Given the description of an element on the screen output the (x, y) to click on. 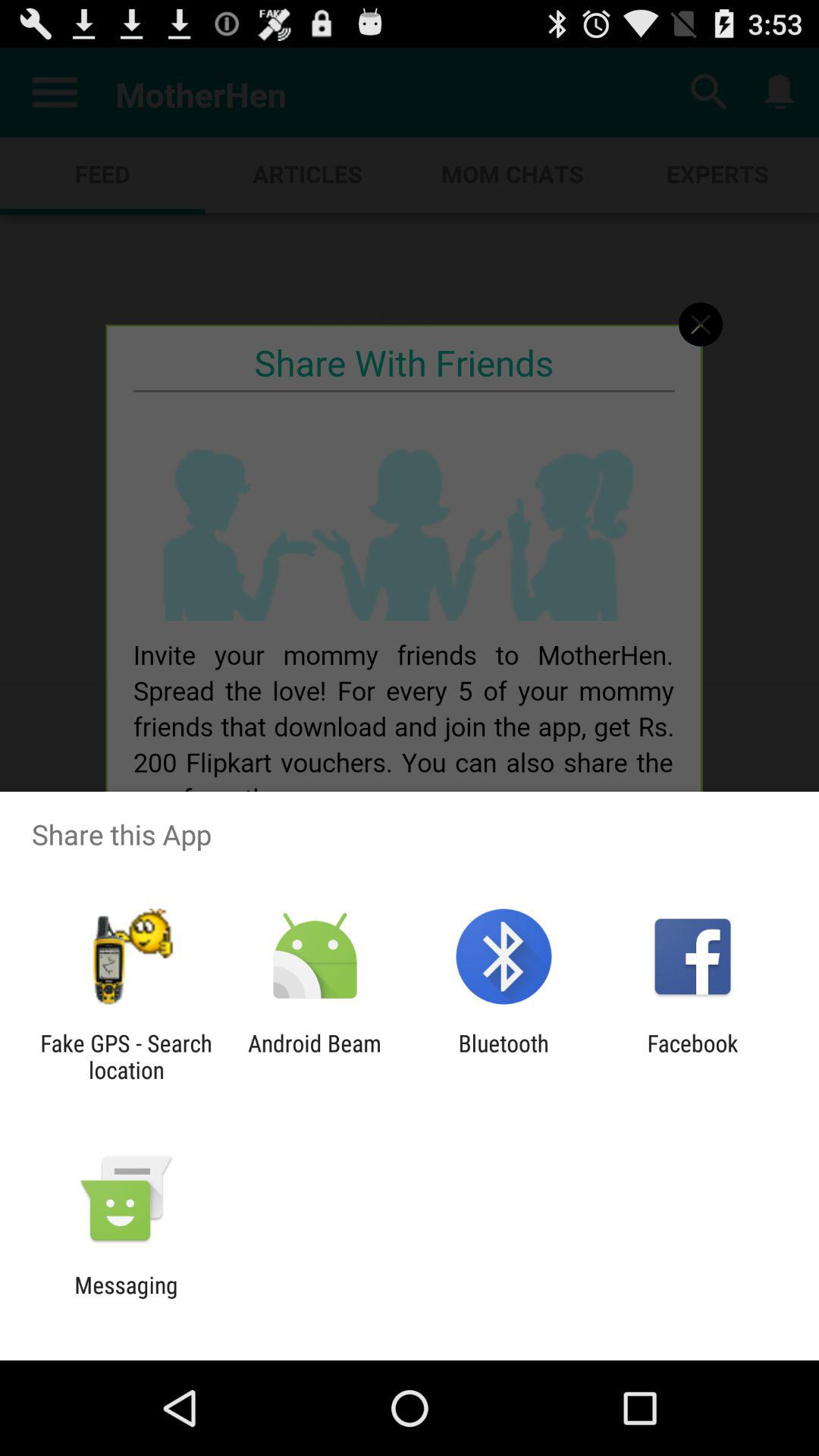
turn off the item to the left of the bluetooth app (314, 1056)
